Given the description of an element on the screen output the (x, y) to click on. 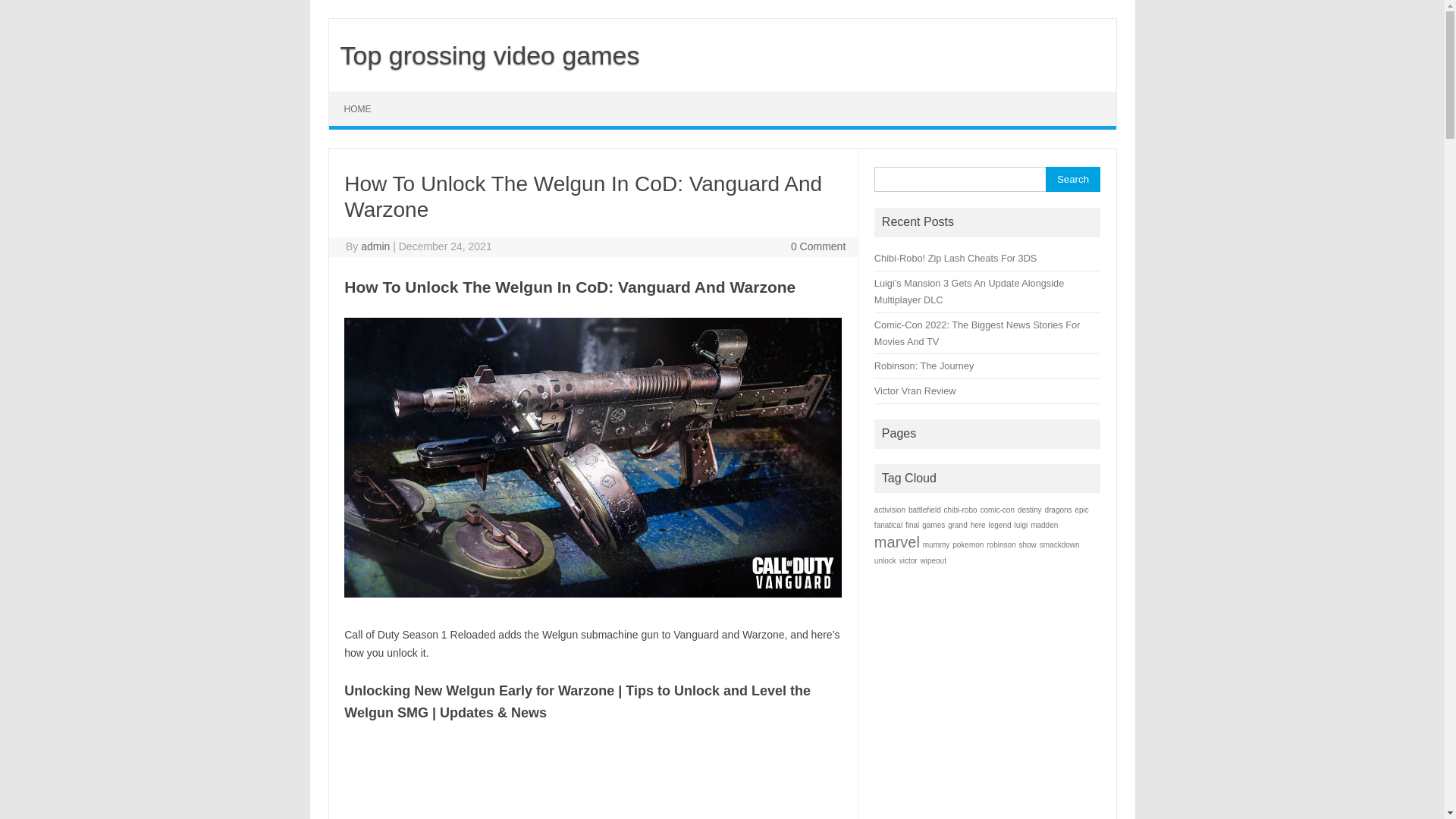
Search Element type: text (1072, 178)
legend Element type: text (999, 524)
smackdown Element type: text (1059, 544)
marvel Element type: text (896, 541)
activision Element type: text (889, 509)
Skip to content Element type: text (364, 96)
Victor Vran Review Element type: text (915, 390)
epic Element type: text (1081, 509)
0 Comment Element type: text (817, 246)
mummy Element type: text (936, 544)
Robinson: The Journey Element type: text (923, 365)
grand Element type: text (957, 524)
comic-con Element type: text (996, 509)
Chibi-Robo! Zip Lash Cheats For 3DS Element type: text (955, 257)
madden Element type: text (1043, 524)
final Element type: text (912, 524)
admin Element type: text (374, 246)
destiny Element type: text (1029, 509)
wipeout Element type: text (932, 560)
chibi-robo Element type: text (960, 509)
pokemon Element type: text (967, 544)
Top grossing video games Element type: text (484, 54)
HOME Element type: text (357, 108)
Comic-Con 2022: The Biggest News Stories For Movies And TV Element type: text (977, 333)
robinson Element type: text (1000, 544)
games Element type: text (933, 524)
fanatical Element type: text (888, 524)
unlock Element type: text (885, 560)
victor Element type: text (908, 560)
here Element type: text (977, 524)
luigi Element type: text (1020, 524)
dragons Element type: text (1057, 509)
show Element type: text (1027, 544)
battlefield Element type: text (924, 509)
